Given the description of an element on the screen output the (x, y) to click on. 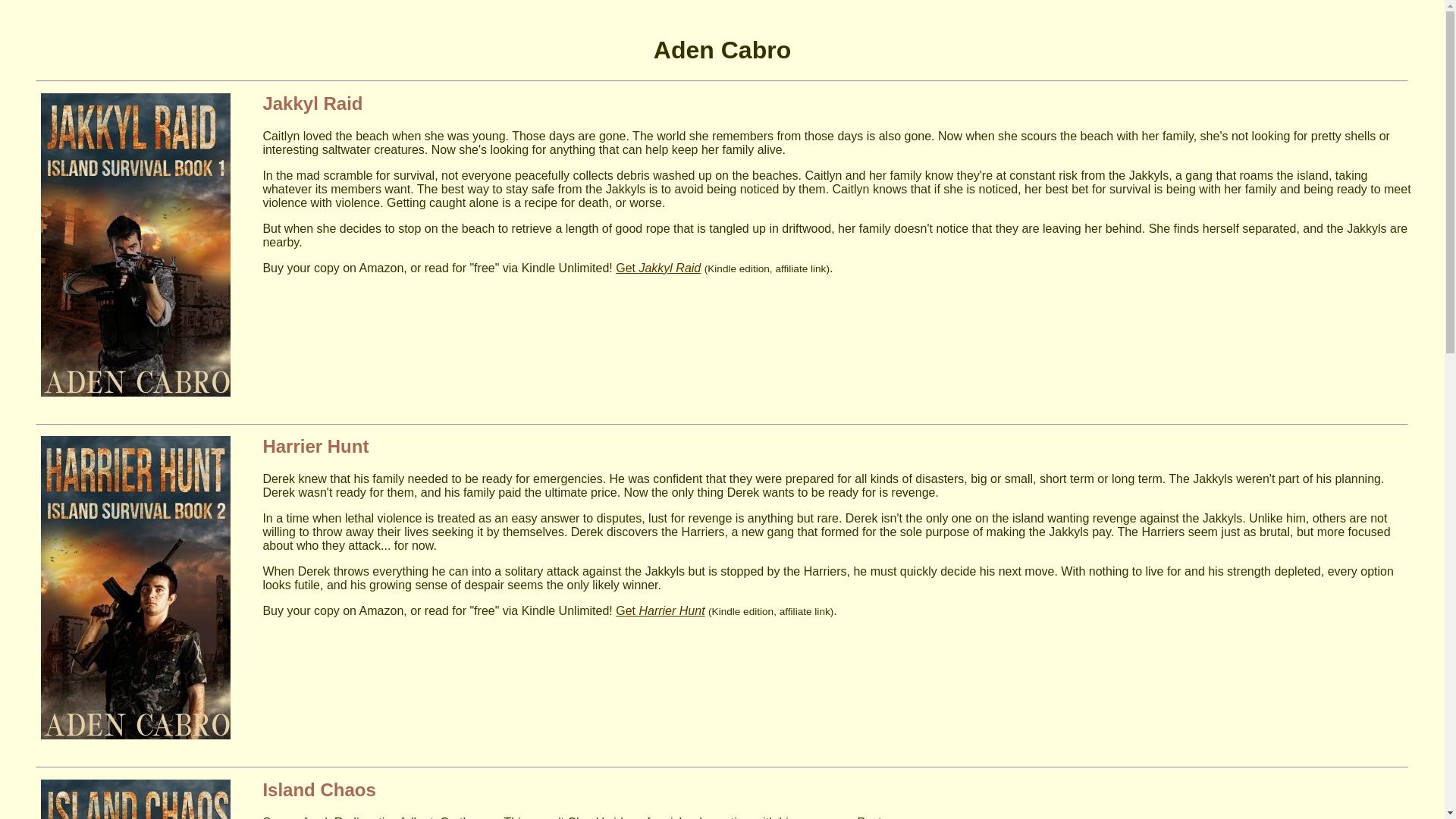
Grab your copy of Jakkyl Raid today! (135, 391)
Grab your copy of Harrier Hunt today! (135, 735)
Get Jakkyl Raid (657, 267)
Get Harrier Hunt (659, 610)
